Given the description of an element on the screen output the (x, y) to click on. 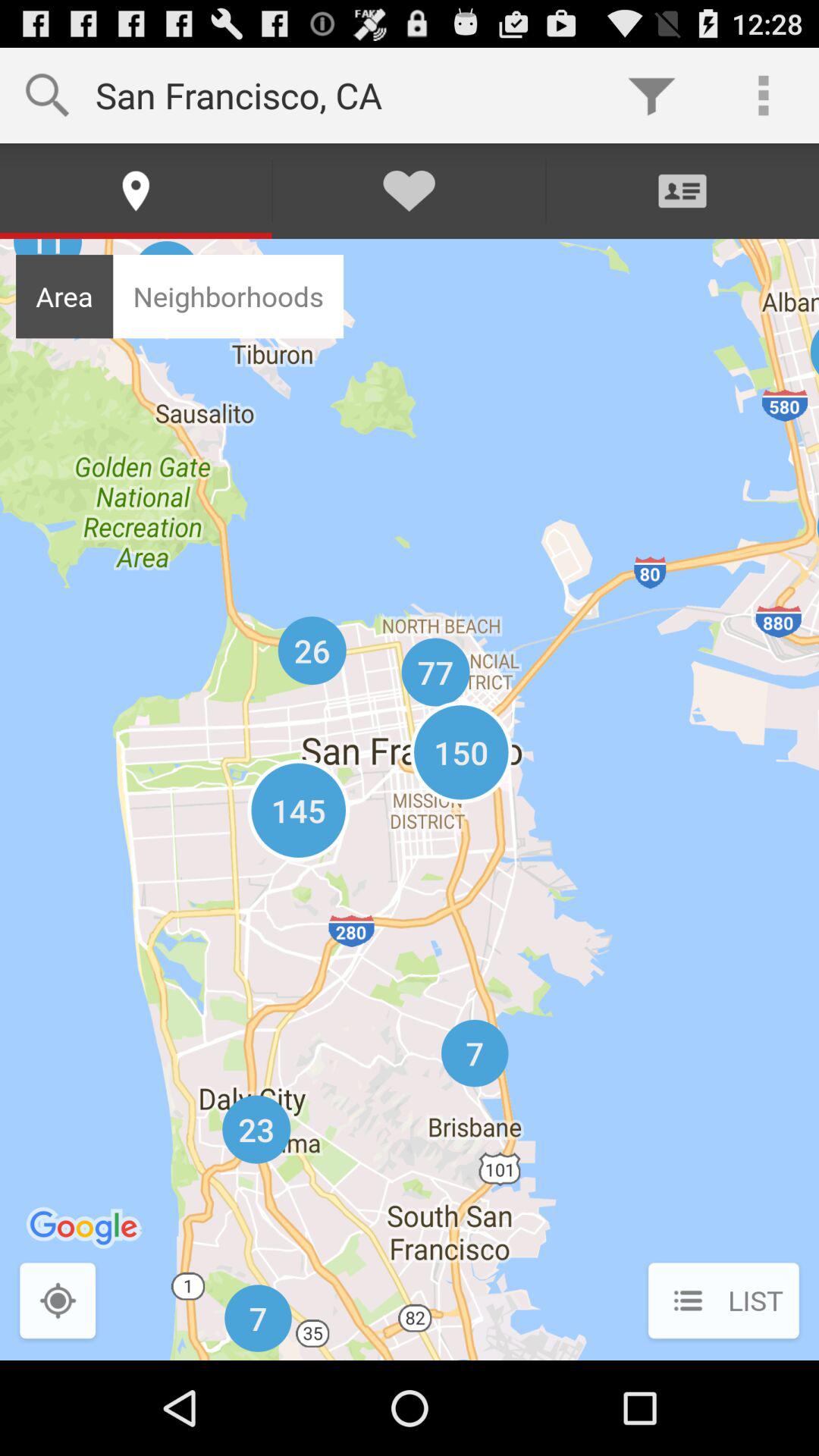
select the item next to the neighborhoods icon (64, 296)
